Given the description of an element on the screen output the (x, y) to click on. 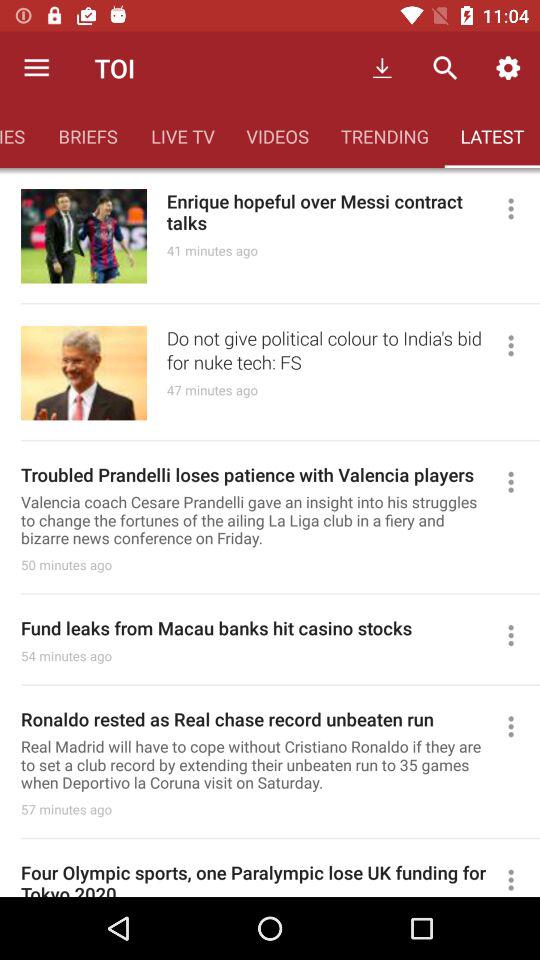
open article options (519, 878)
